Given the description of an element on the screen output the (x, y) to click on. 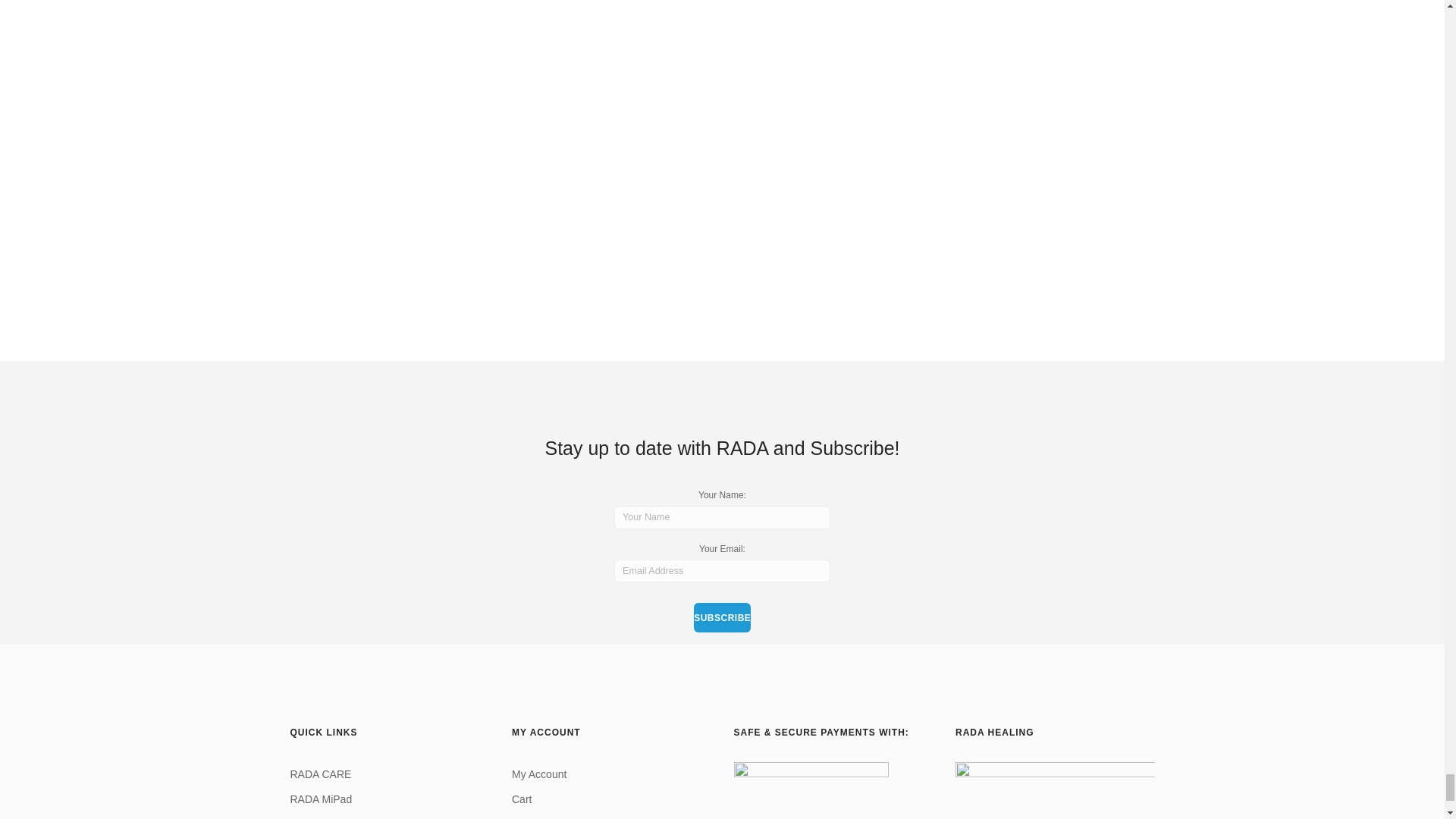
Subscribe (722, 617)
